Given the description of an element on the screen output the (x, y) to click on. 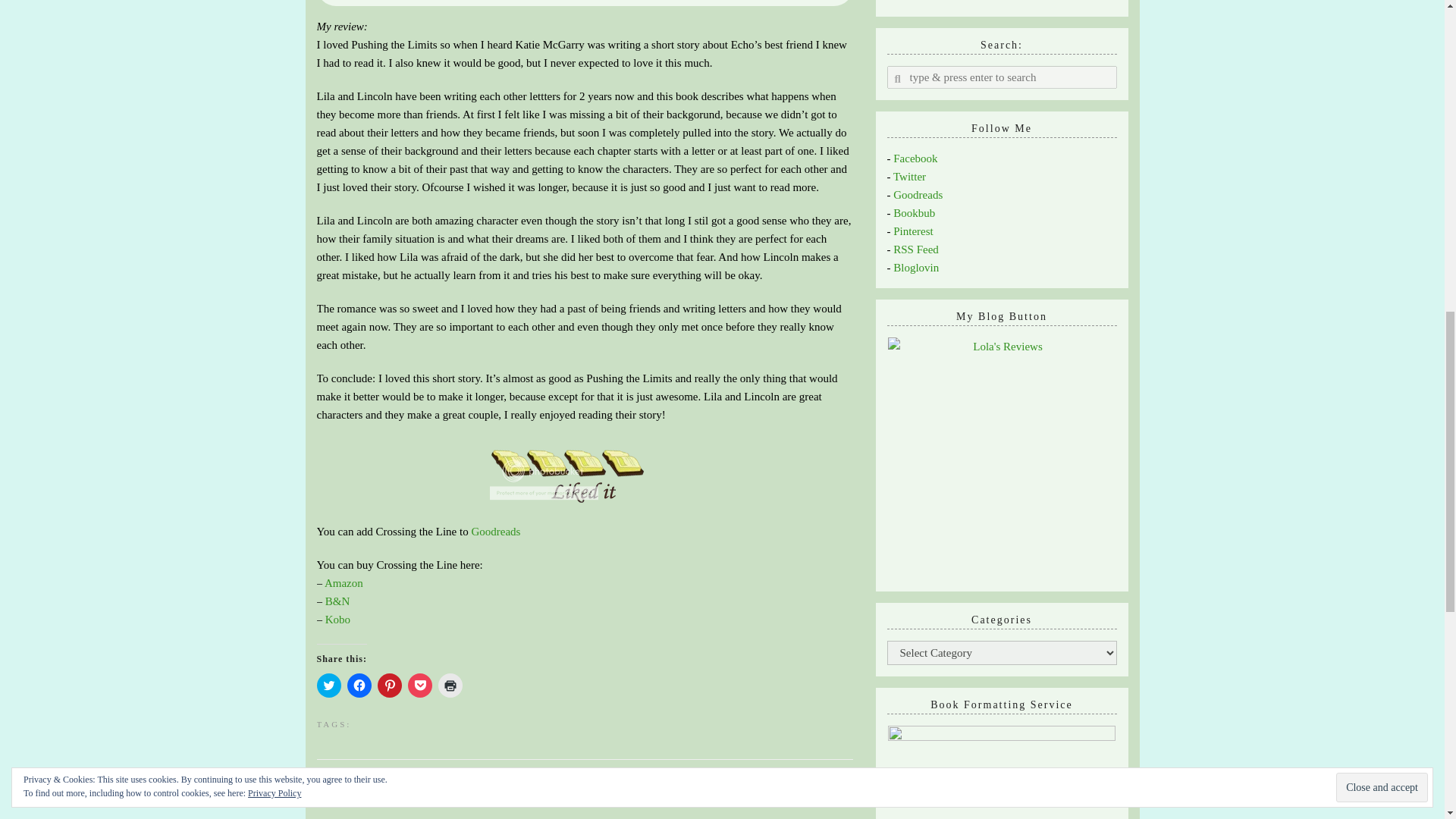
Kobo (337, 619)
Twitter (909, 176)
Amazon (343, 582)
Click to print (450, 685)
Click to share on Twitter (328, 685)
Follow me on Twitter (909, 176)
Click to share on Facebook (359, 685)
find me on Goodreads (917, 194)
Goodreads (494, 531)
Pinterest (913, 231)
